Given the description of an element on the screen output the (x, y) to click on. 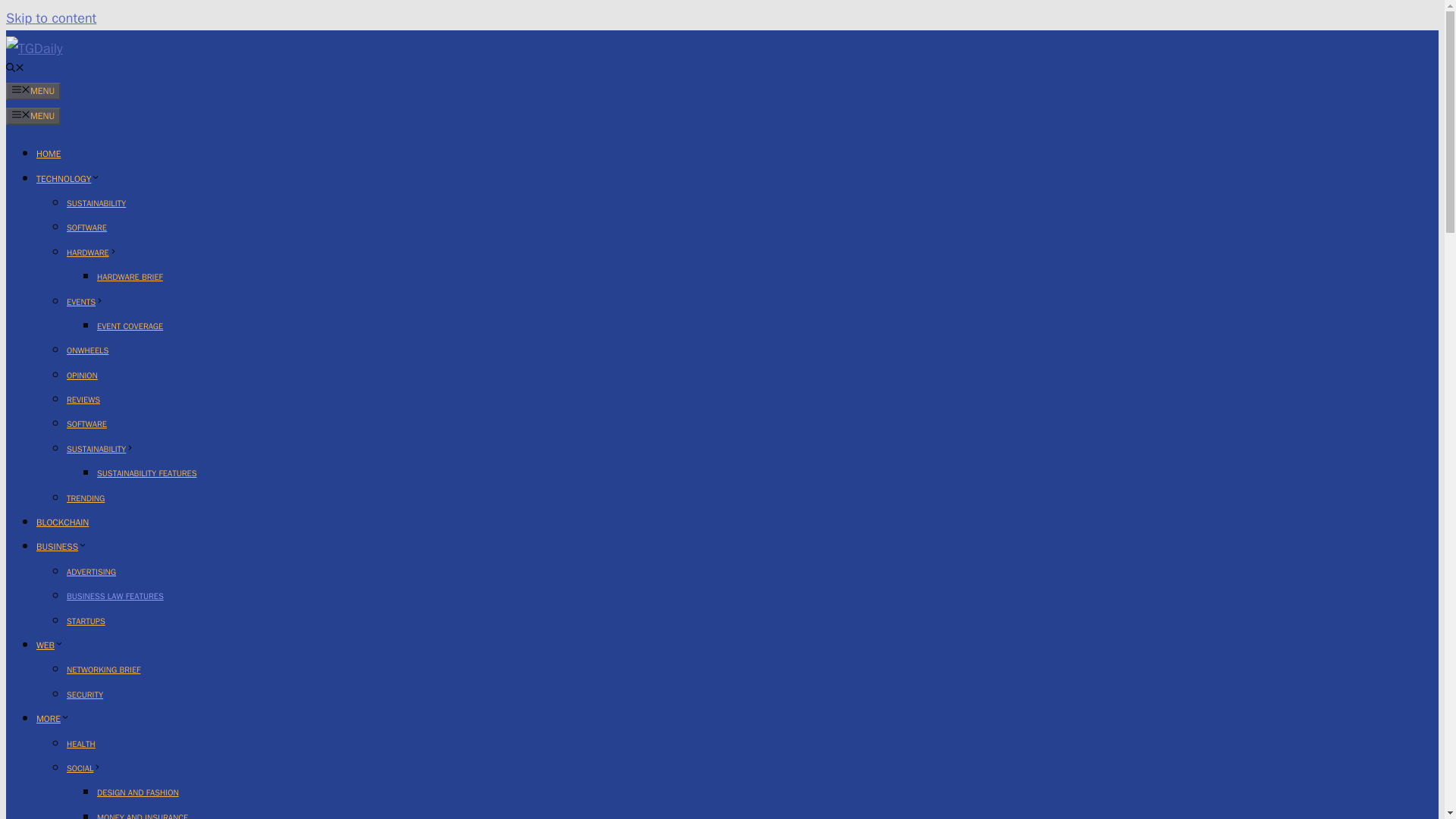
SOFTWARE (86, 423)
EVENT COVERAGE (130, 326)
SUSTAINABILITY (99, 448)
MORE (52, 718)
HARDWARE (91, 252)
BLOCKCHAIN (62, 522)
NETWORKING BRIEF (102, 669)
REVIEWS (83, 398)
HEALTH (81, 743)
SUSTAINABILITY FEATURES (146, 472)
